Given the description of an element on the screen output the (x, y) to click on. 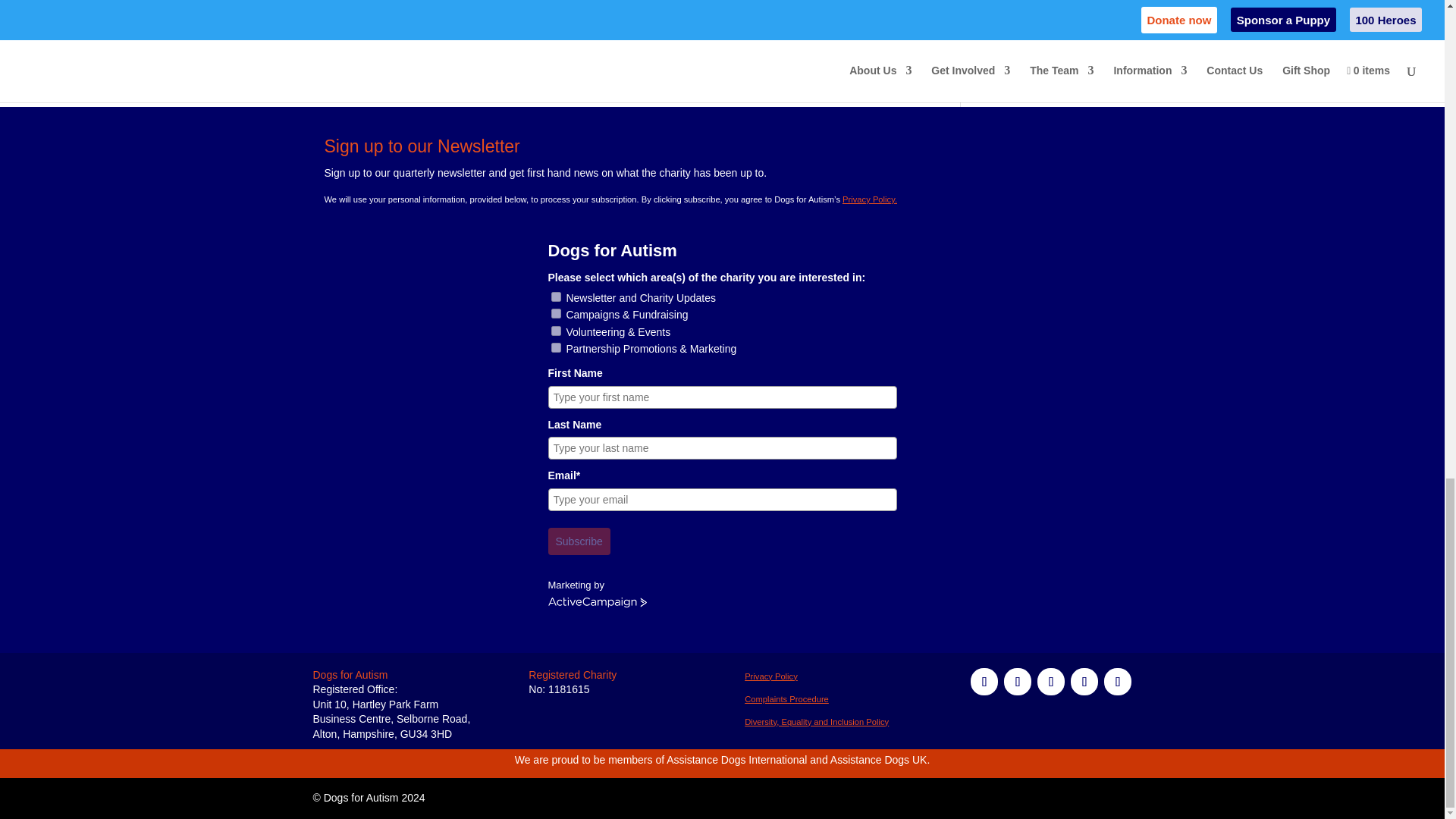
Follow on LinkedIn (1083, 681)
Follow on Facebook (984, 681)
Follow on Instagram (1050, 681)
Newsletter and Charity Updates (555, 296)
Follow on X (1017, 681)
Privacy Policy (816, 721)
Follow on Youtube (1117, 681)
Privacy Policy (770, 675)
Privacy Policy (786, 698)
